Given the description of an element on the screen output the (x, y) to click on. 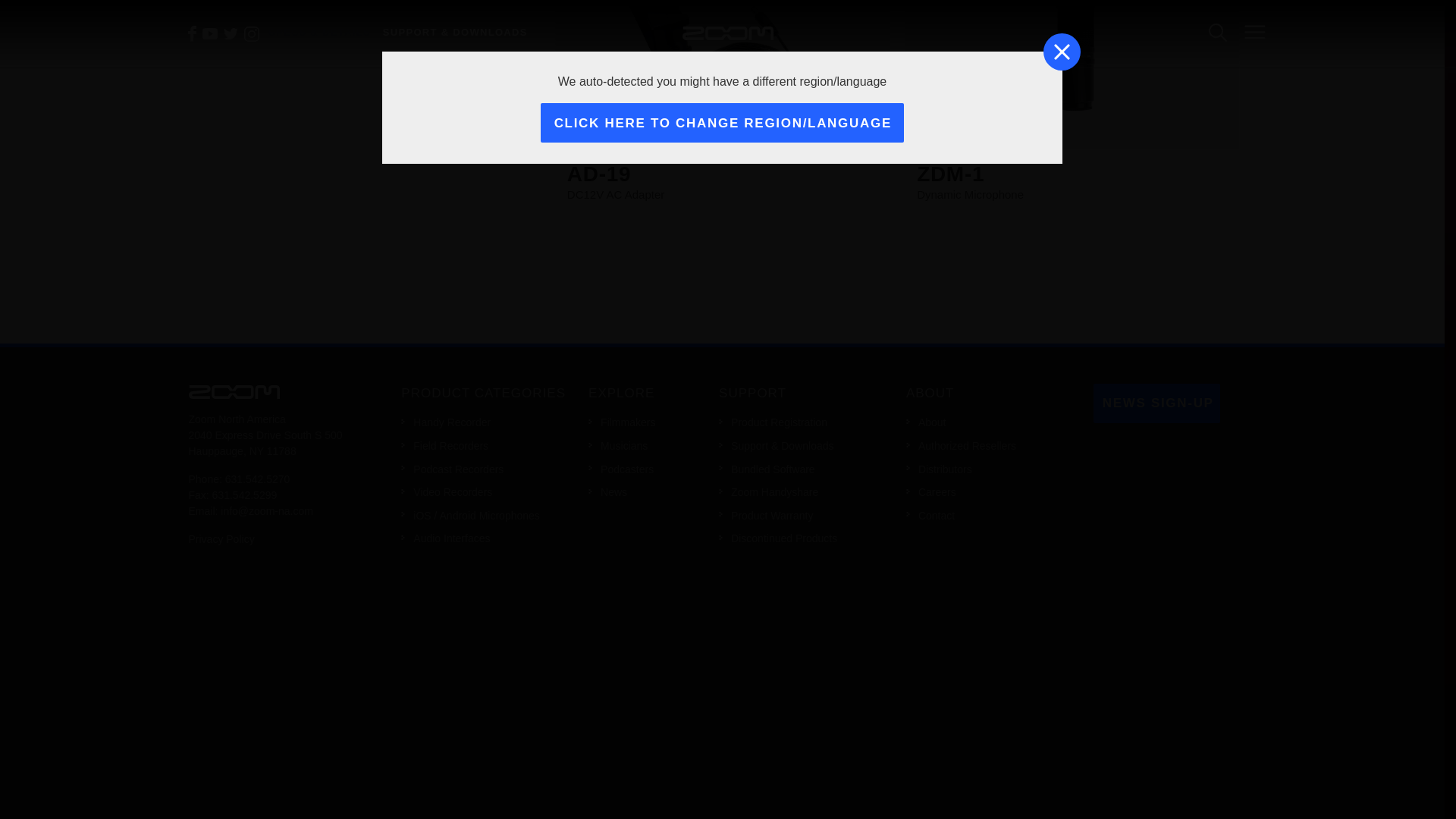
Home (233, 391)
